Given the description of an element on the screen output the (x, y) to click on. 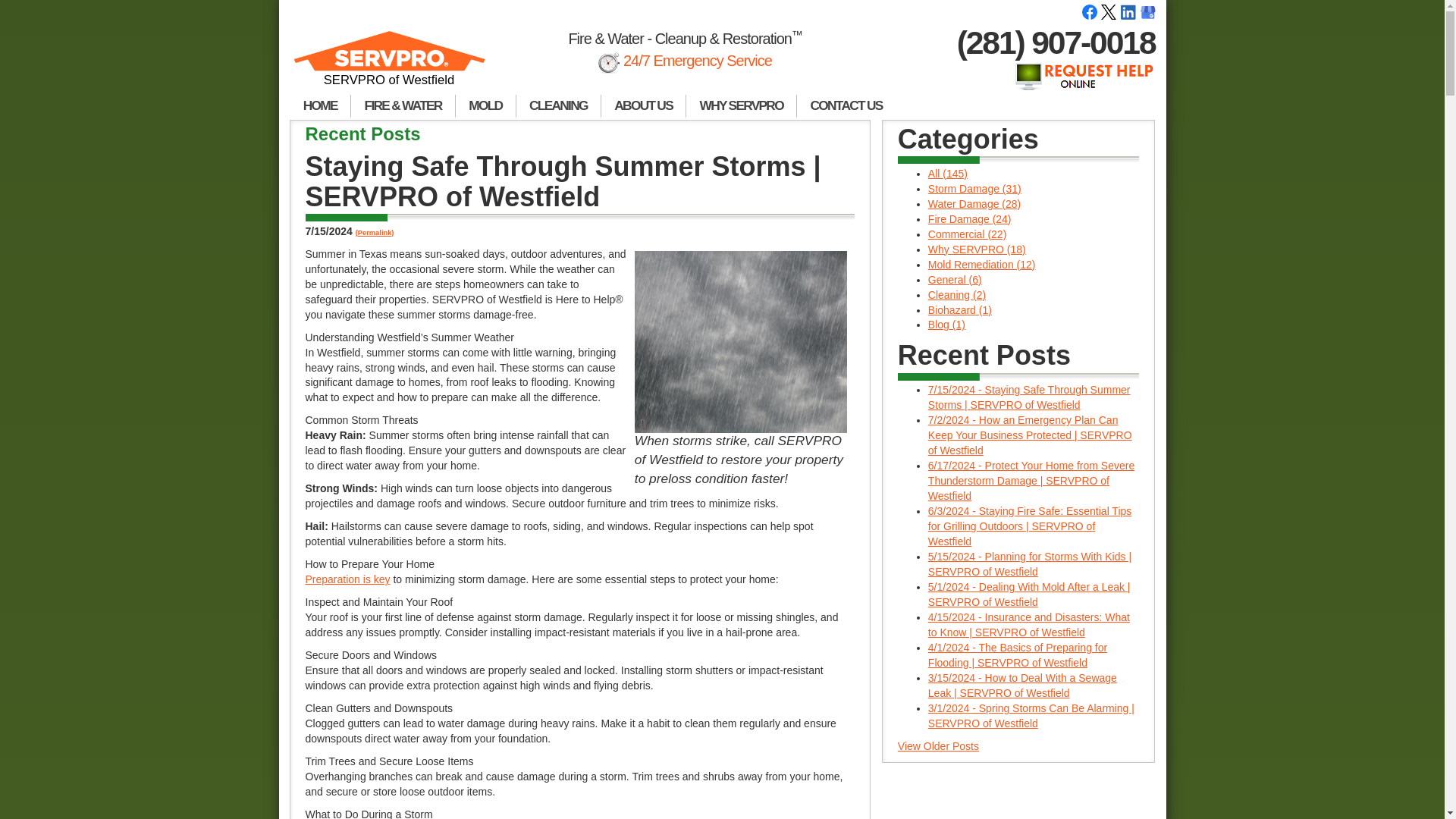
MOLD (485, 106)
HOME (319, 106)
SERVPRO of Westfield (389, 64)
CLEANING (558, 106)
ABOUT US (643, 106)
